Given the description of an element on the screen output the (x, y) to click on. 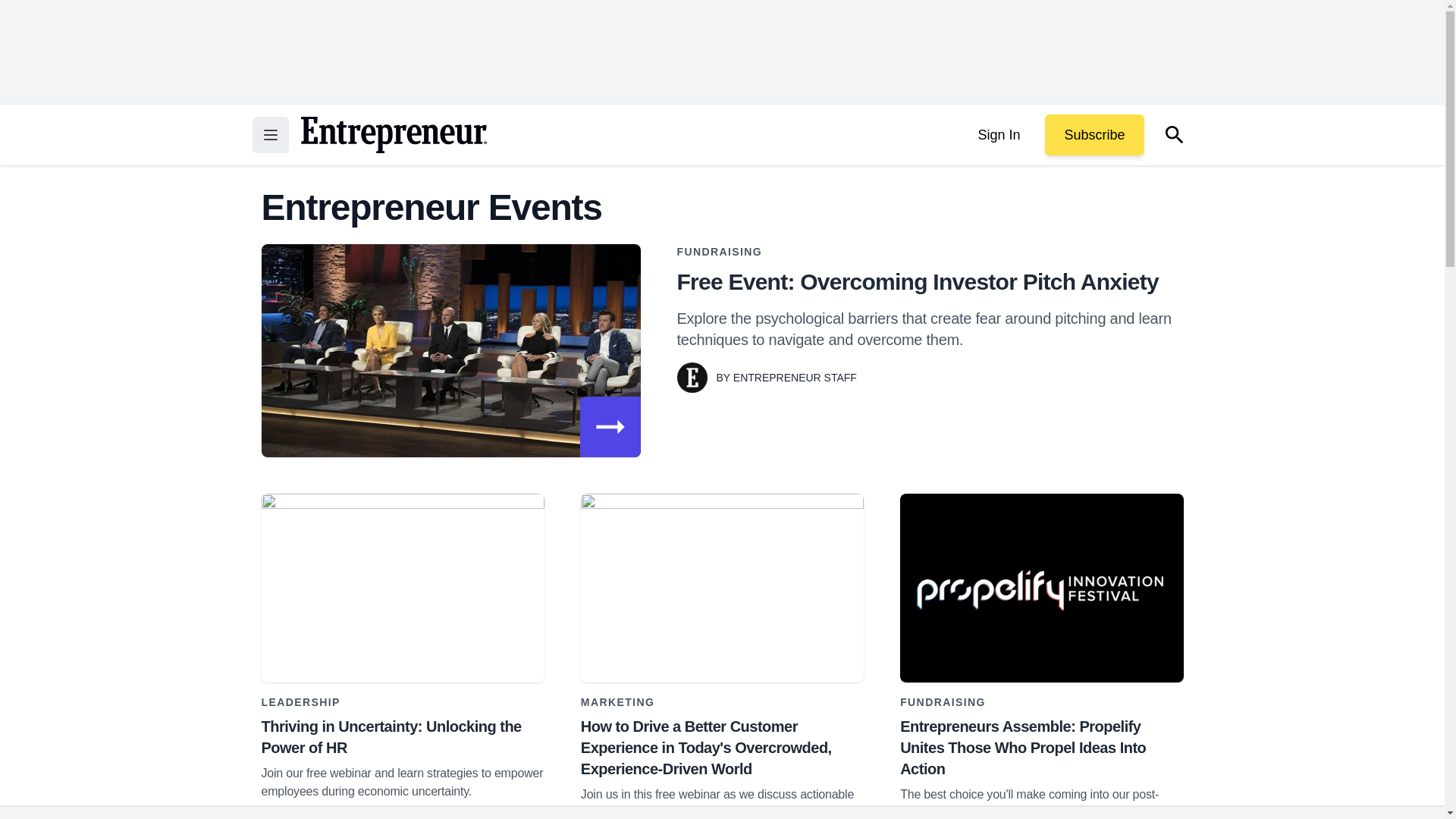
Subscribe (1093, 134)
Return to the home page (392, 135)
Sign In (998, 134)
